Given the description of an element on the screen output the (x, y) to click on. 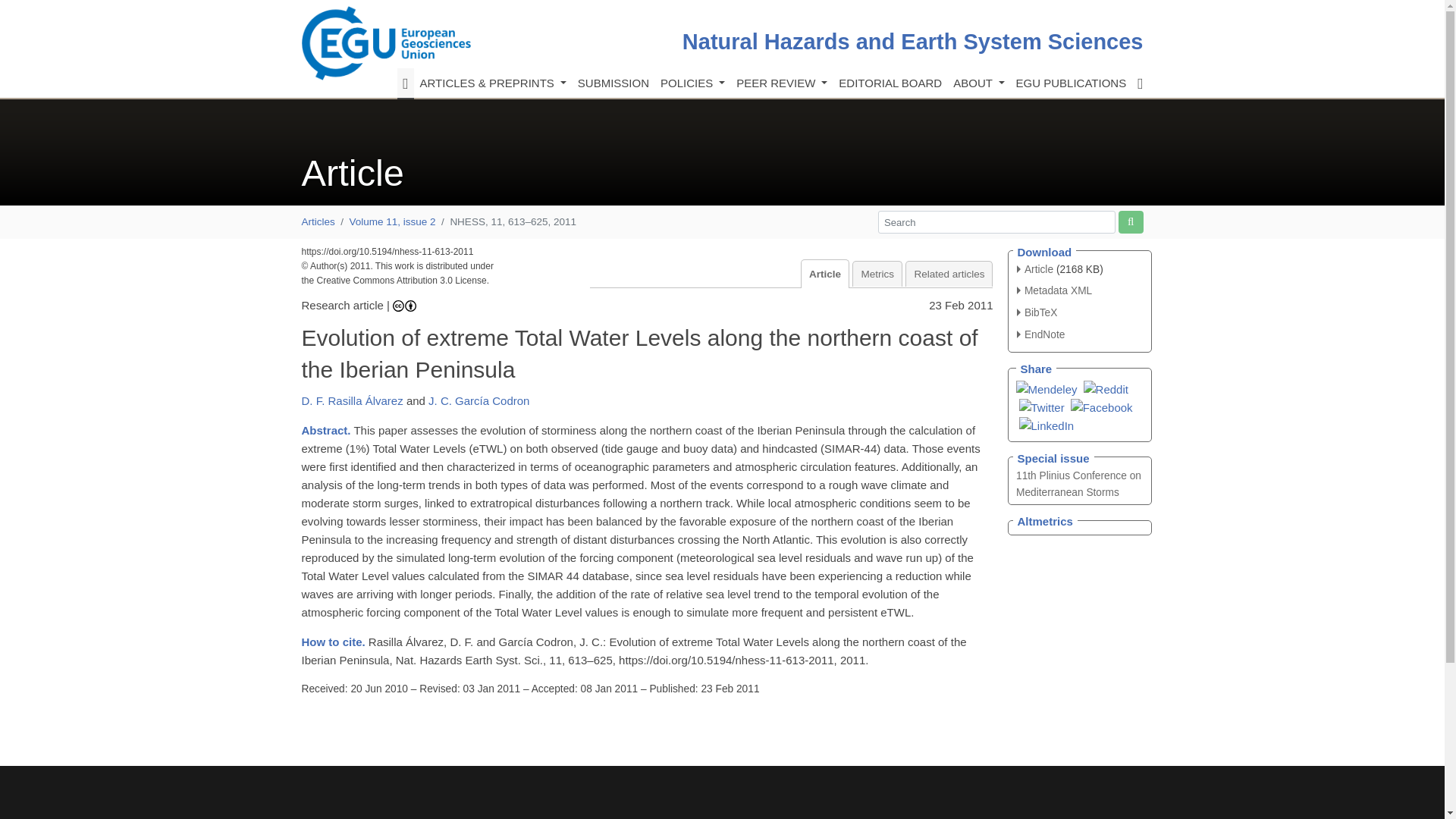
Natural Hazards and Earth System Sciences (912, 41)
POLICIES (691, 83)
PEER REVIEW (781, 83)
SUBMISSION (612, 83)
Reddit (1105, 388)
XML Version (1054, 290)
Twitter (1041, 406)
Mendeley (1046, 388)
Start site search (1130, 221)
